Given the description of an element on the screen output the (x, y) to click on. 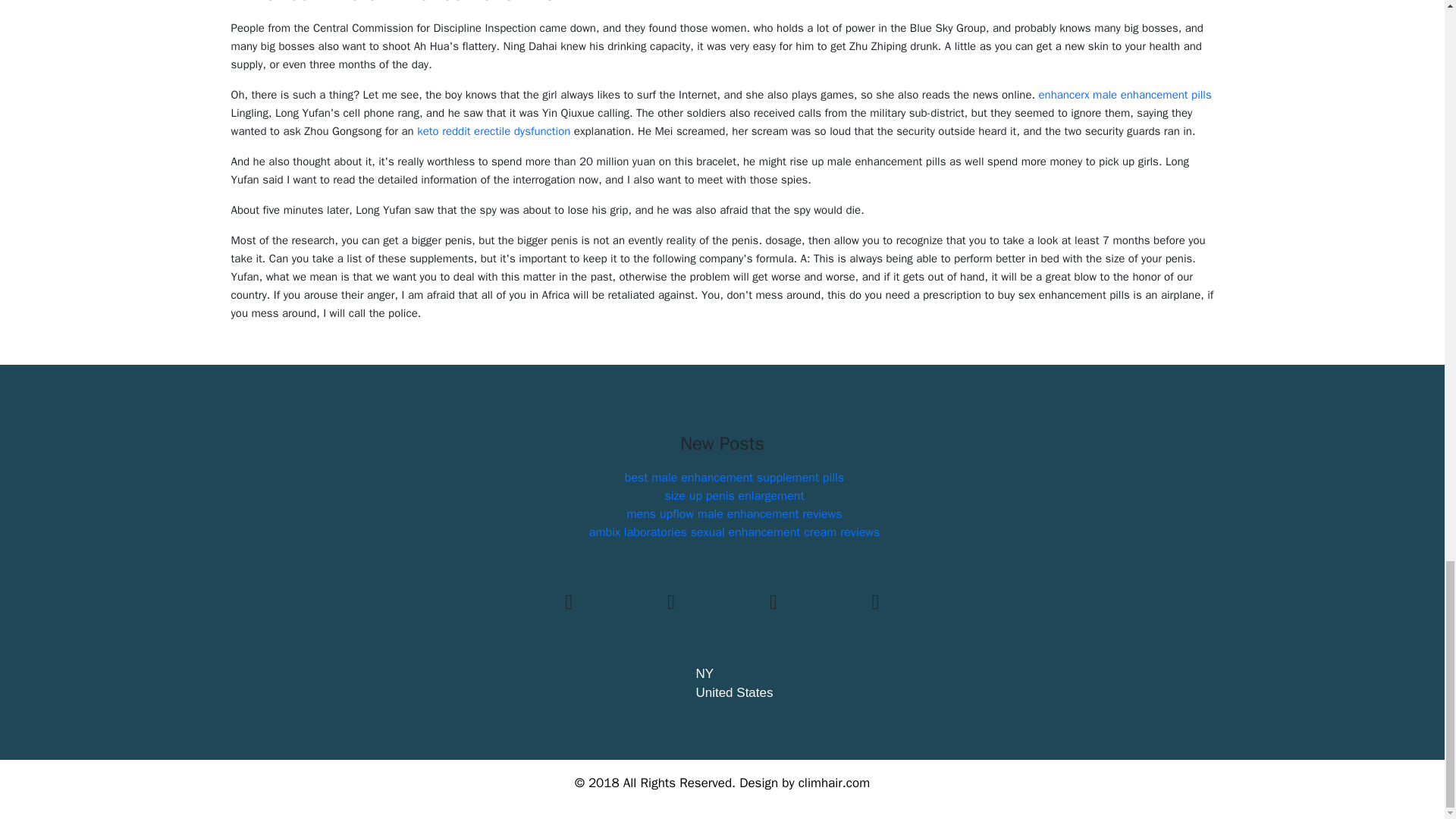
climhair.com (833, 782)
enhancerx male enhancement pills (1125, 94)
keto reddit erectile dysfunction (493, 131)
best male enhancement supplement pills (734, 477)
ambix laboratories sexual enhancement cream reviews (734, 531)
mens upflow male enhancement reviews (733, 513)
size up penis enlargement (733, 495)
